Given the description of an element on the screen output the (x, y) to click on. 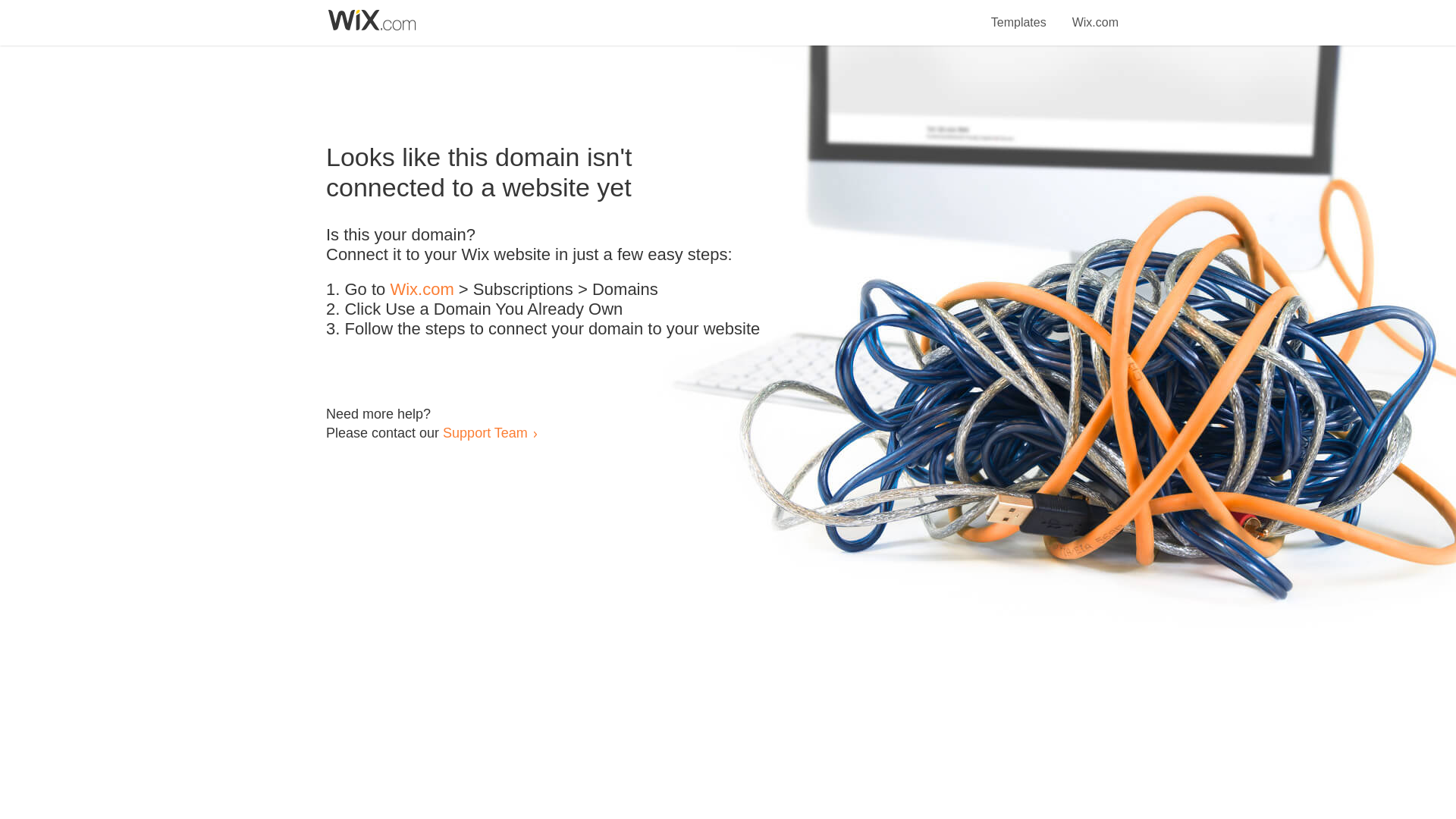
Wix.com (1095, 14)
Templates (1018, 14)
Wix.com (421, 289)
Support Team (484, 432)
